Given the description of an element on the screen output the (x, y) to click on. 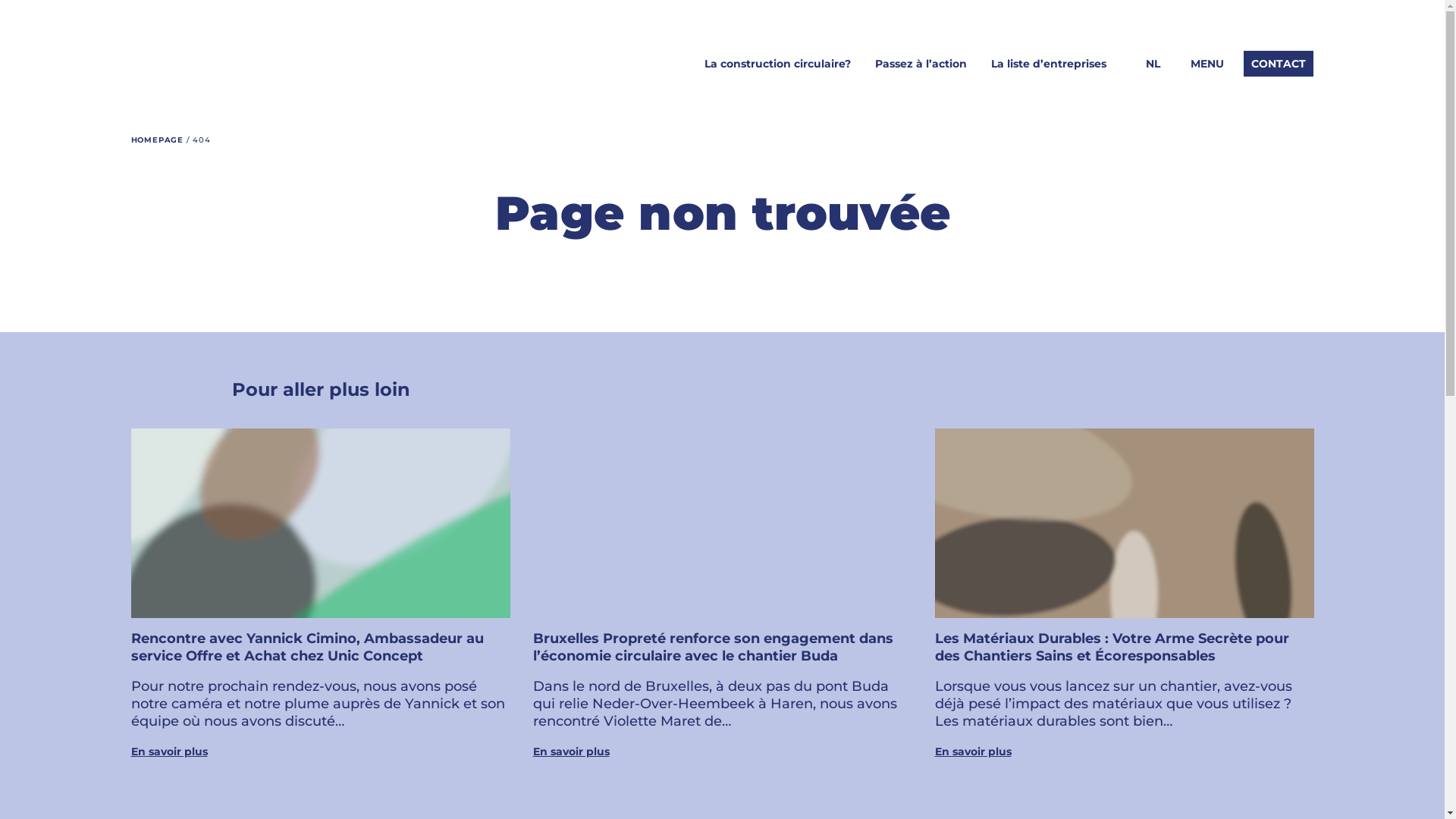
Build Circular Element type: hover (178, 81)
CONTACT Element type: text (1278, 63)
HOMEPAGE Element type: text (157, 139)
NL Element type: text (1152, 63)
La construction circulaire? Element type: text (777, 63)
